Given the description of an element on the screen output the (x, y) to click on. 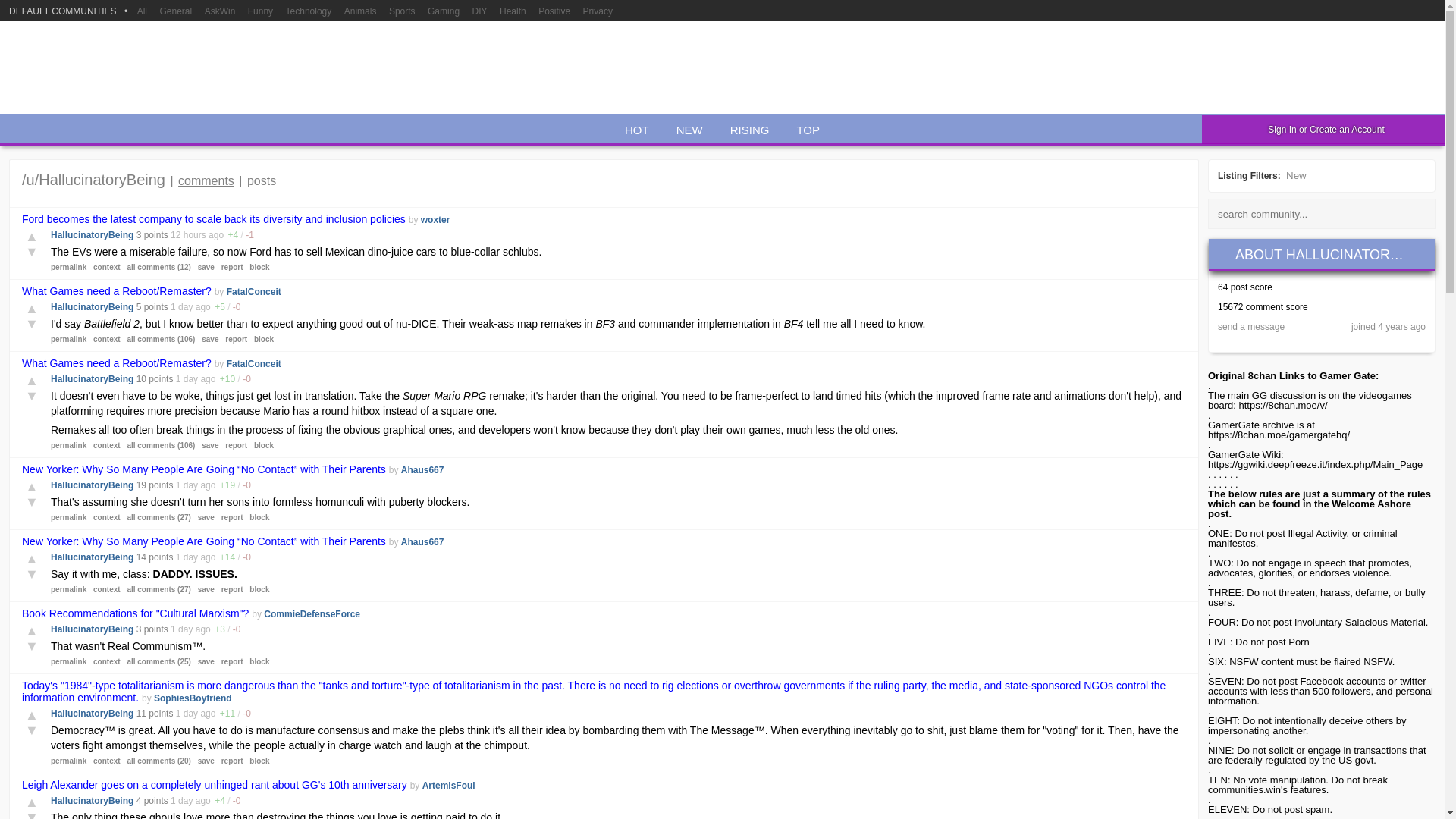
Sat Aug 31 07:01:02 GMT 2024 (187, 557)
Sat Aug 31 22:32:44 GMT 2024 (188, 235)
Sat Aug 31 07:18:29 GMT 2024 (181, 307)
Sat Aug 31 07:15:17 GMT 2024 (187, 378)
Sat Aug 31 04:39:29 GMT 2024 (187, 713)
Sat Aug 31 06:16:40 GMT 2024 (181, 629)
Fri Aug 30 23:17:41 GMT 2024 (181, 800)
Sat Aug 31 07:03:41 GMT 2024 (187, 484)
